Given the description of an element on the screen output the (x, y) to click on. 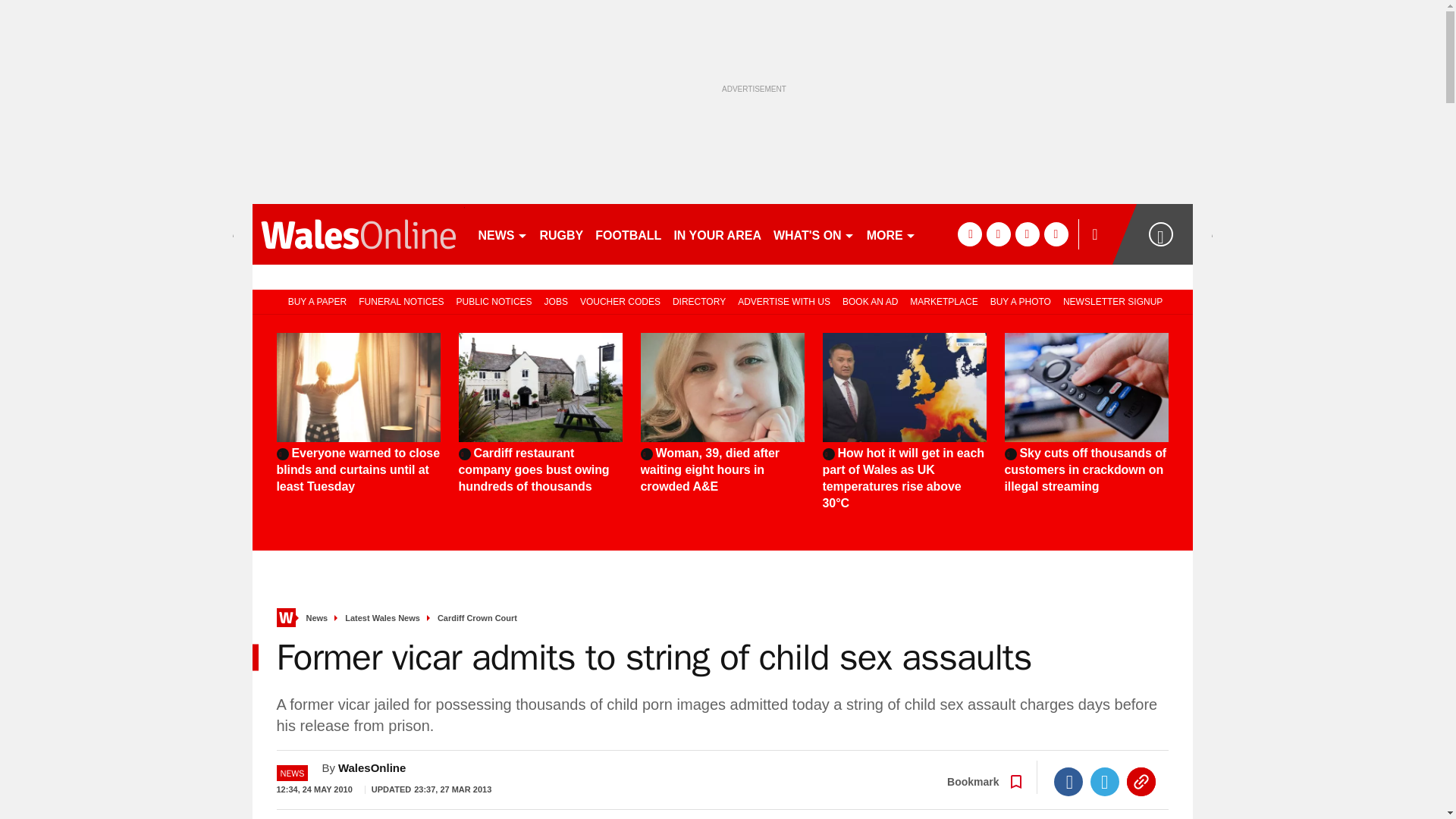
walesonline (357, 233)
Facebook (1068, 781)
facebook (968, 233)
IN YOUR AREA (716, 233)
WHAT'S ON (813, 233)
RUGBY (561, 233)
FOOTBALL (627, 233)
Twitter (1104, 781)
instagram (1055, 233)
twitter (997, 233)
NEWS (501, 233)
